Given the description of an element on the screen output the (x, y) to click on. 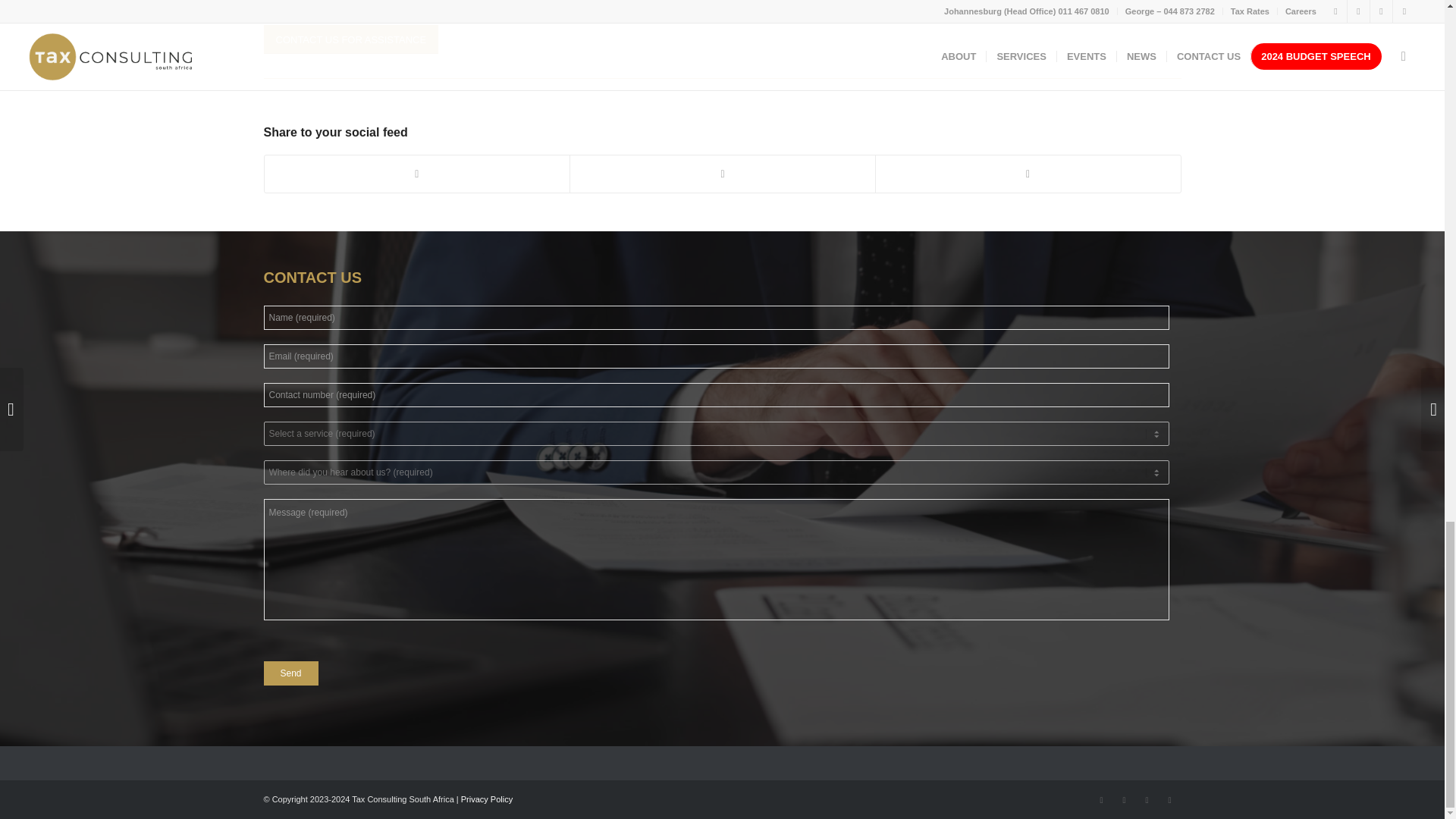
Twitter (1146, 799)
Send (290, 672)
Youtube (1169, 799)
LinkedIn (1124, 799)
Facebook (1101, 799)
